Given the description of an element on the screen output the (x, y) to click on. 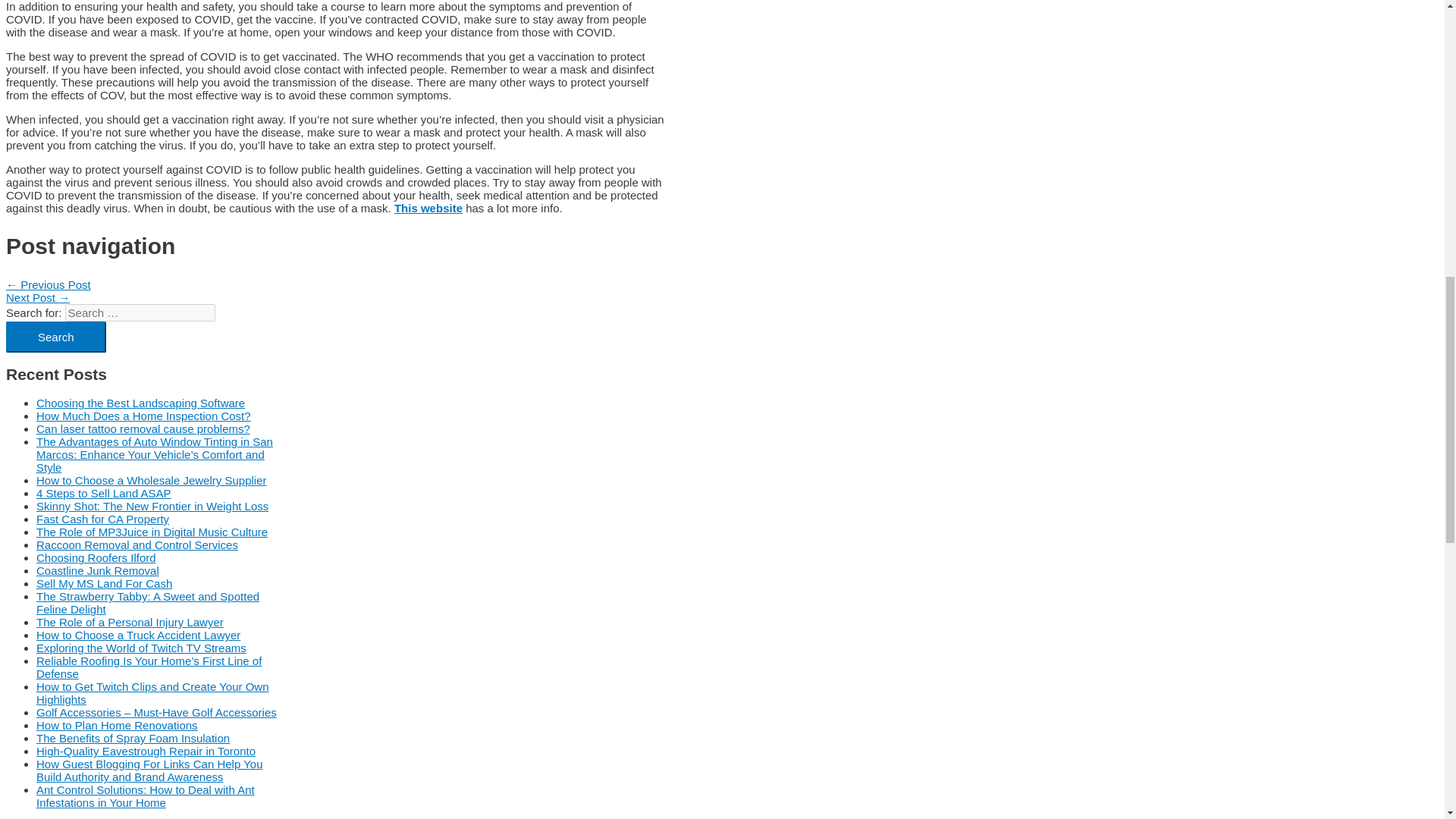
How to Plan Home Renovations (117, 725)
How to Choose a Wholesale Jewelry Supplier (151, 480)
High-Quality Eavestrough Repair in Toronto (146, 750)
How to Choose a Truck Accident Lawyer (138, 634)
How Much Does a Home Inspection Cost? (143, 415)
Exploring the World of Twitch TV Streams (141, 647)
The Strawberry Tabby: A Sweet and Spotted Feline Delight (147, 602)
Search (55, 336)
The Role of MP3Juice in Digital Music Culture (151, 531)
How to Get Twitch Clips and Create Your Own Highlights (152, 692)
